Given the description of an element on the screen output the (x, y) to click on. 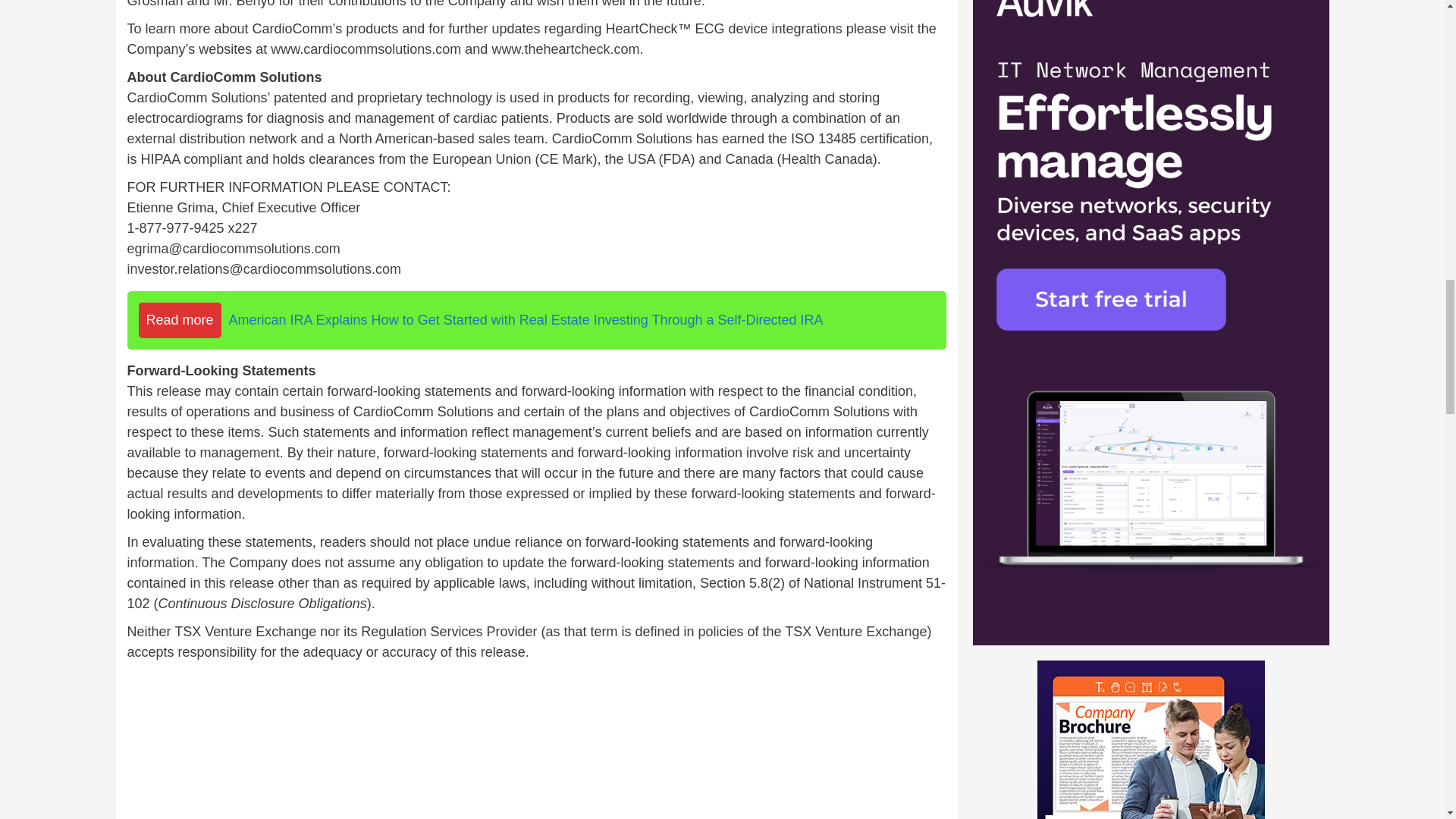
Search (1276, 206)
www.cardiocommsolutions.com (365, 48)
Search (1276, 206)
www.theheartcheck.com (565, 48)
